Given the description of an element on the screen output the (x, y) to click on. 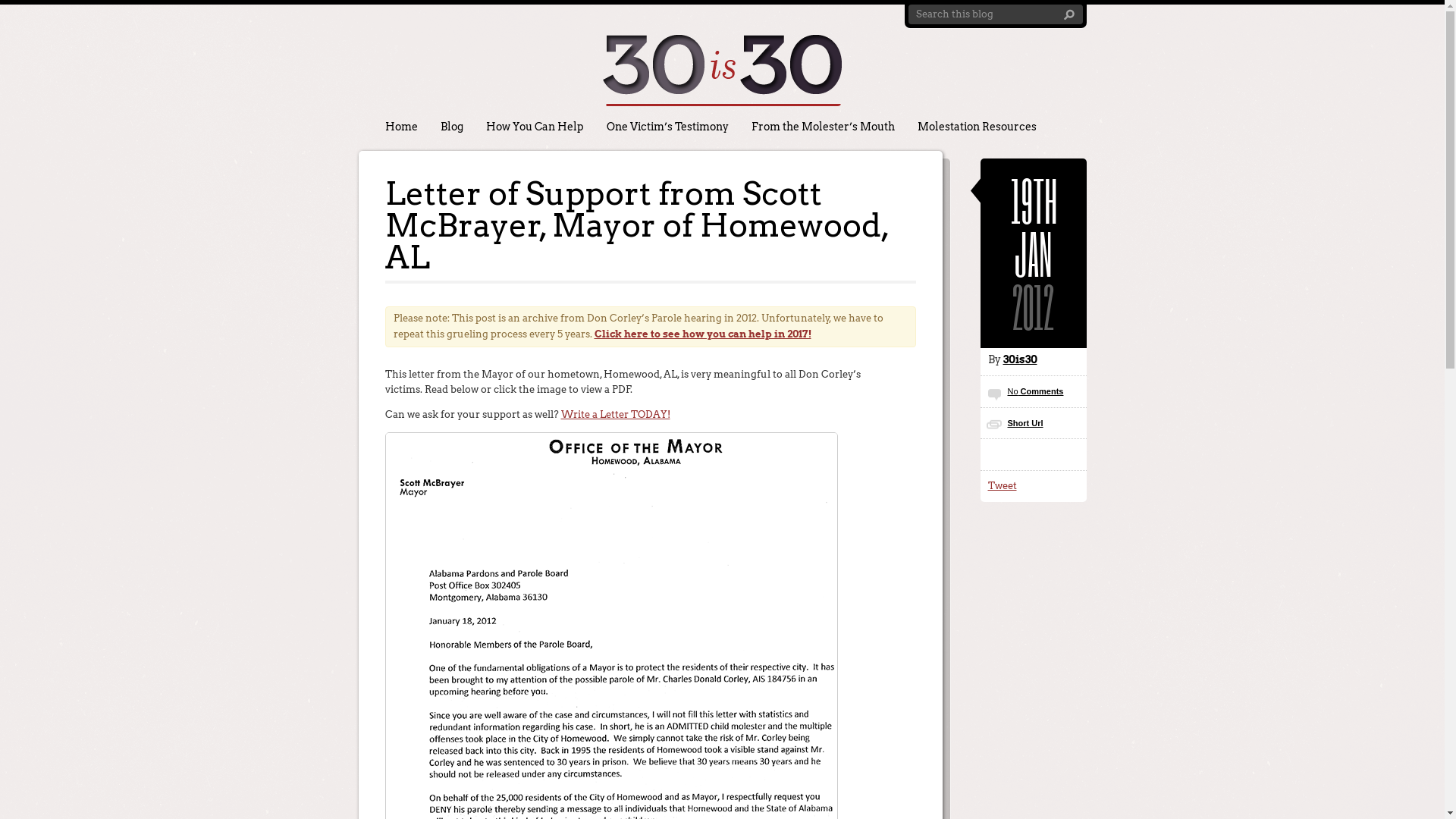
Tweet Element type: text (1001, 485)
No Comments Element type: text (1035, 390)
Blog Element type: text (451, 126)
Short Url Element type: text (1024, 422)
Letter of Support from Scott McBrayer, Mayor of Homewood, AL Element type: text (636, 225)
How You Can Help Element type: text (534, 126)
Write a Letter TODAY! Element type: text (615, 414)
Search Element type: text (1069, 14)
Molestation Resources Element type: text (976, 126)
Click here to see how you can help in 2017! Element type: text (702, 333)
Home Element type: text (400, 126)
30is30 Element type: text (1019, 359)
